Given the description of an element on the screen output the (x, y) to click on. 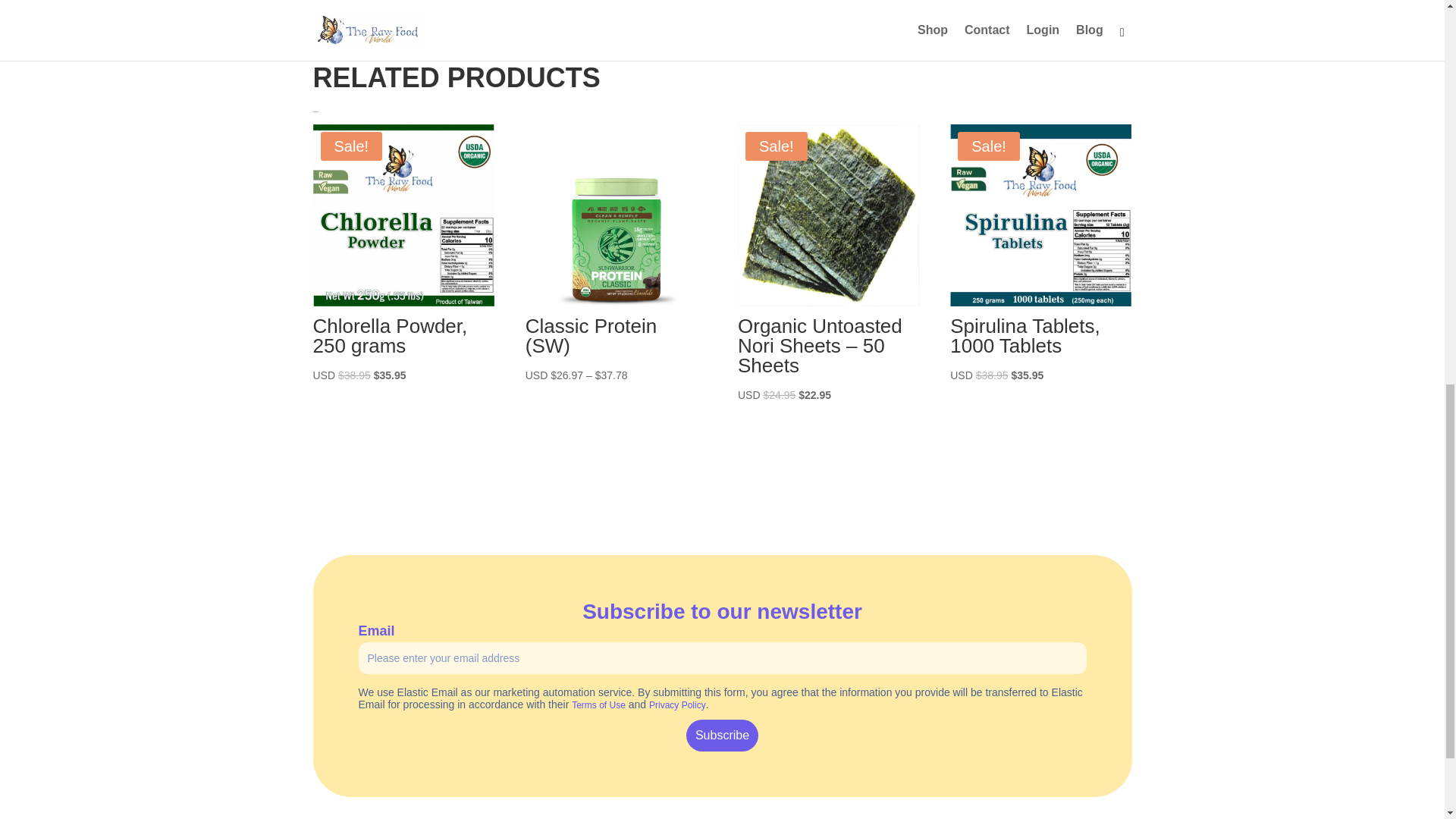
Privacy Policy (677, 705)
Select options (615, 417)
Subscribe (721, 735)
Terms of Use (599, 705)
Subscribe (721, 735)
Add to cart (1040, 417)
Add to cart (403, 417)
Add to cart (828, 437)
